Given the description of an element on the screen output the (x, y) to click on. 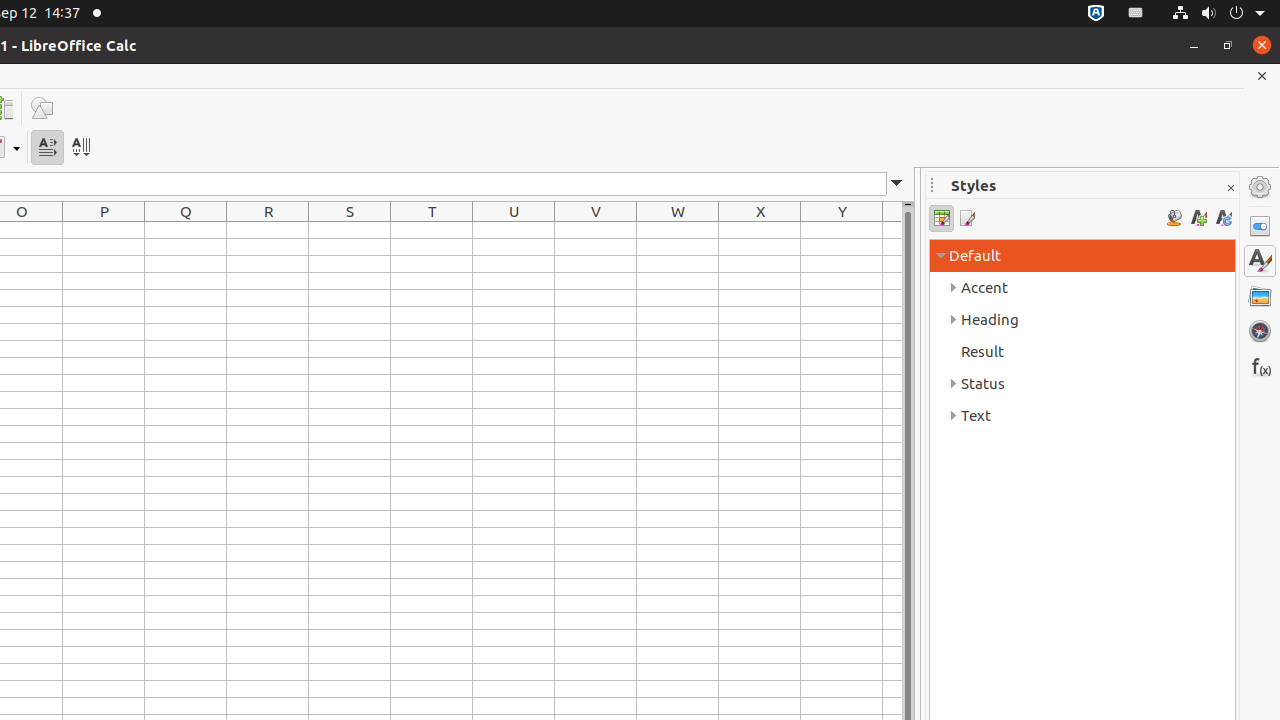
Draw Functions Element type: toggle-button (41, 108)
Navigator Element type: radio-button (1260, 331)
Gallery Element type: radio-button (1260, 296)
Properties Element type: radio-button (1260, 226)
